Given the description of an element on the screen output the (x, y) to click on. 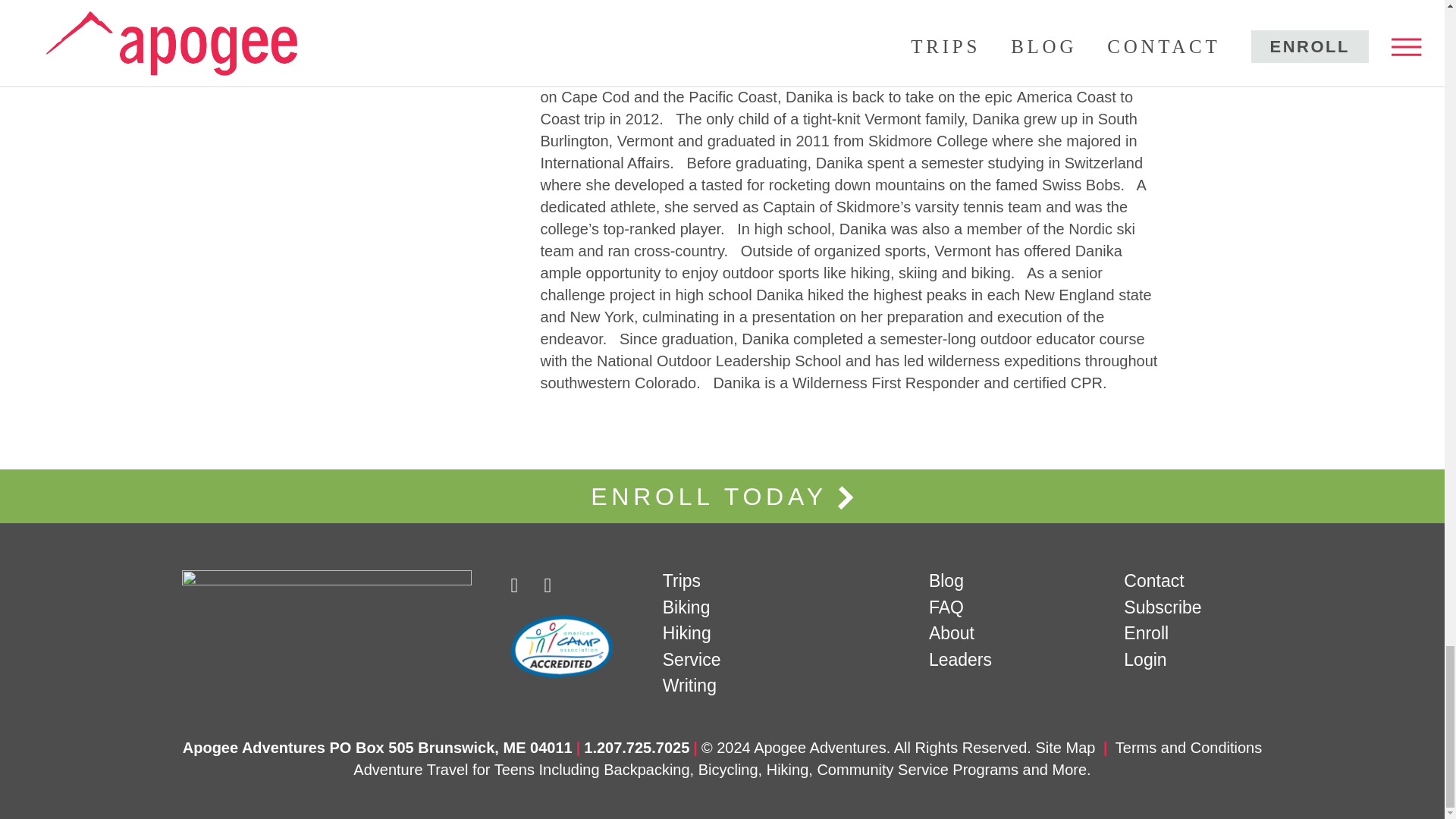
Summer Community Service Programs (691, 659)
Blog (945, 580)
Summer Bike Trips (686, 607)
Apogee Adventures (333, 580)
Summer Hiking Programs (686, 632)
